Given the description of an element on the screen output the (x, y) to click on. 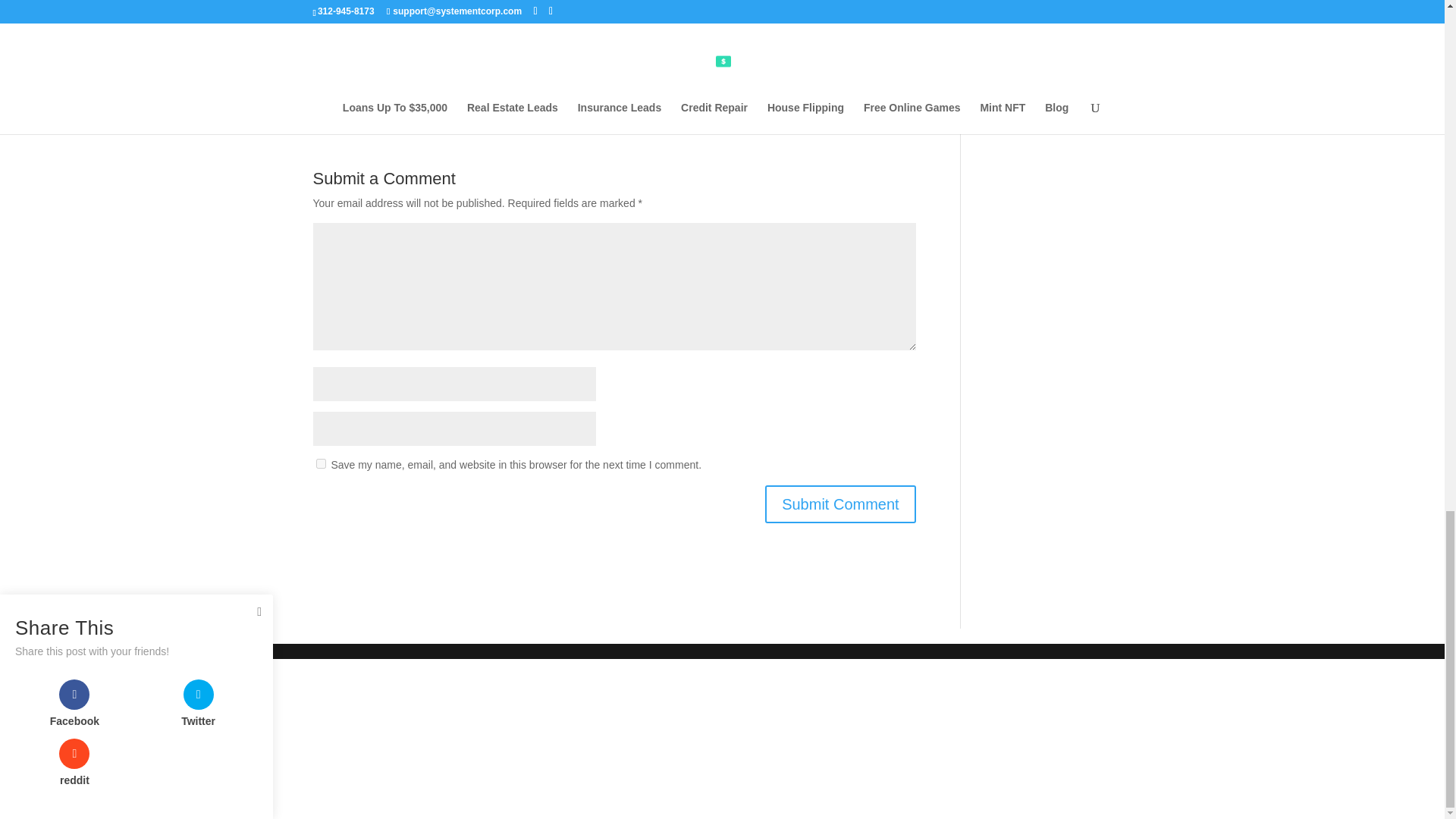
yes (319, 463)
Submit Comment (840, 504)
